Given the description of an element on the screen output the (x, y) to click on. 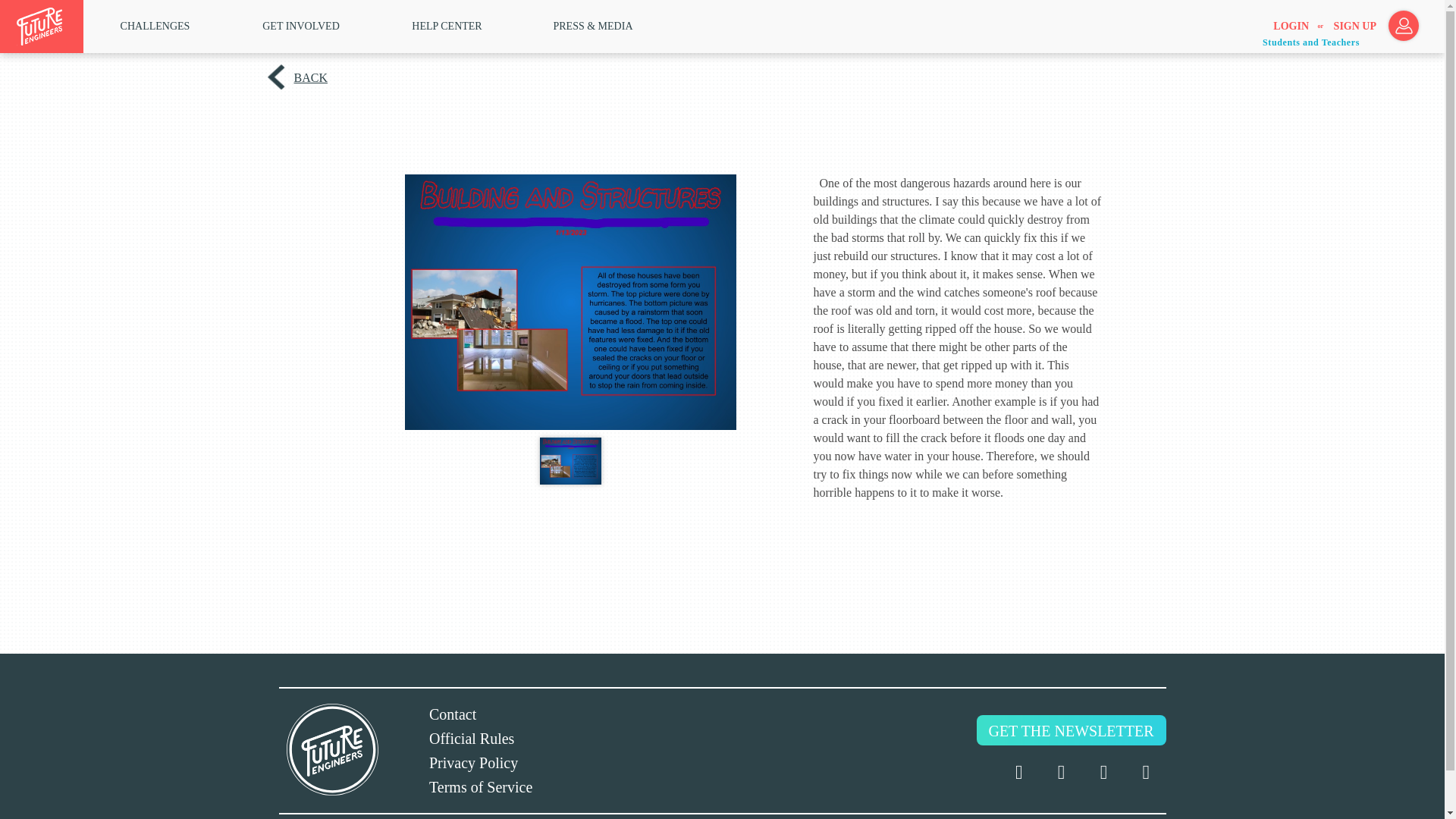
SIGN UP (1354, 26)
LOGIN (1290, 26)
Follow us on Youtube (1145, 772)
Follow us on Twitter (1019, 772)
Back (308, 77)
CHALLENGES (155, 25)
HELP CENTER (446, 25)
Follow us on Instagram (1102, 772)
BACK (308, 77)
Follow us on Facebook (1060, 772)
